Given the description of an element on the screen output the (x, y) to click on. 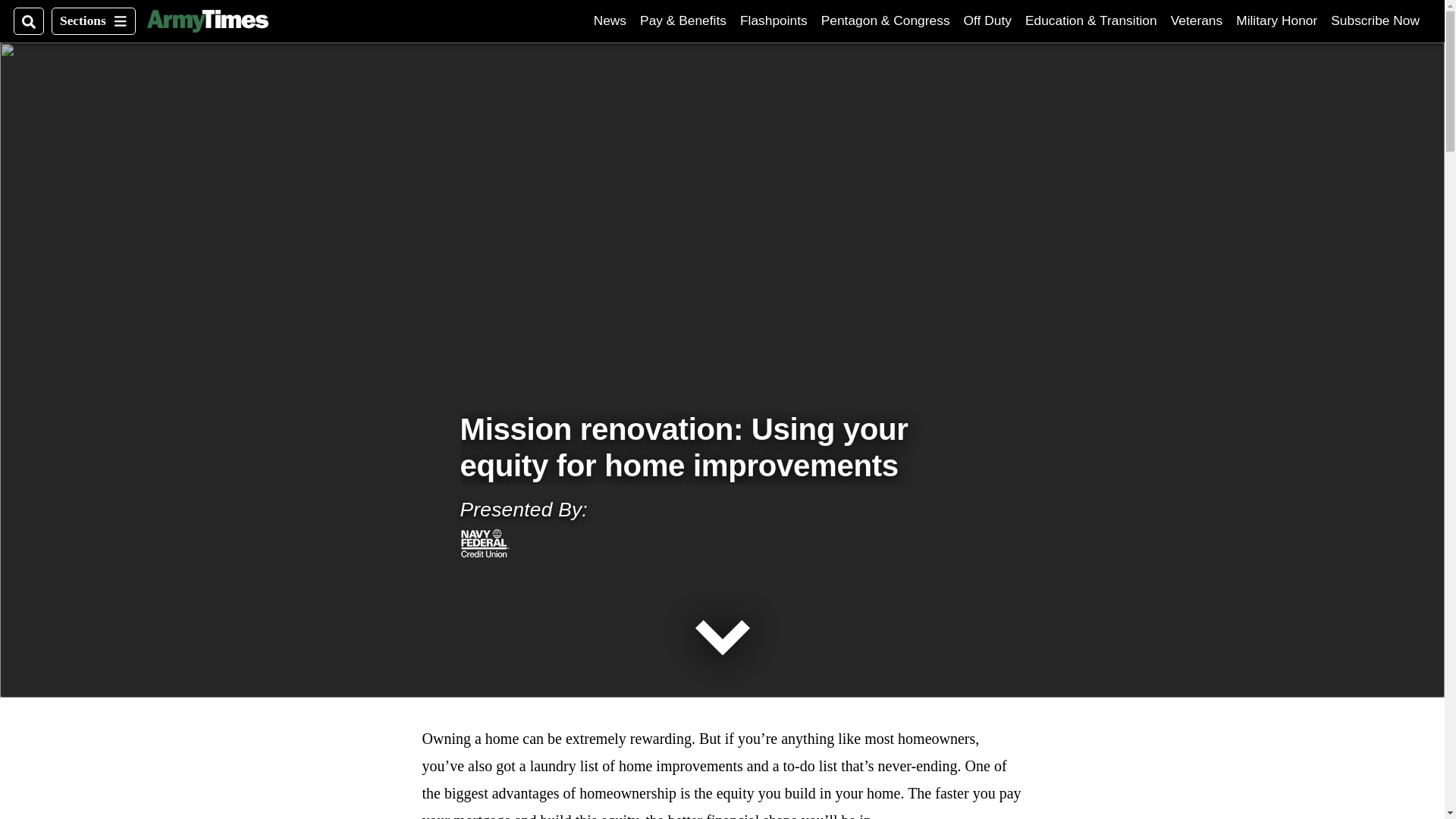
Off Duty (1374, 20)
Army Times Logo (987, 20)
Flashpoints (207, 20)
Military Honor (773, 20)
News (1276, 20)
Sections (610, 20)
Veterans (92, 21)
